Given the description of an element on the screen output the (x, y) to click on. 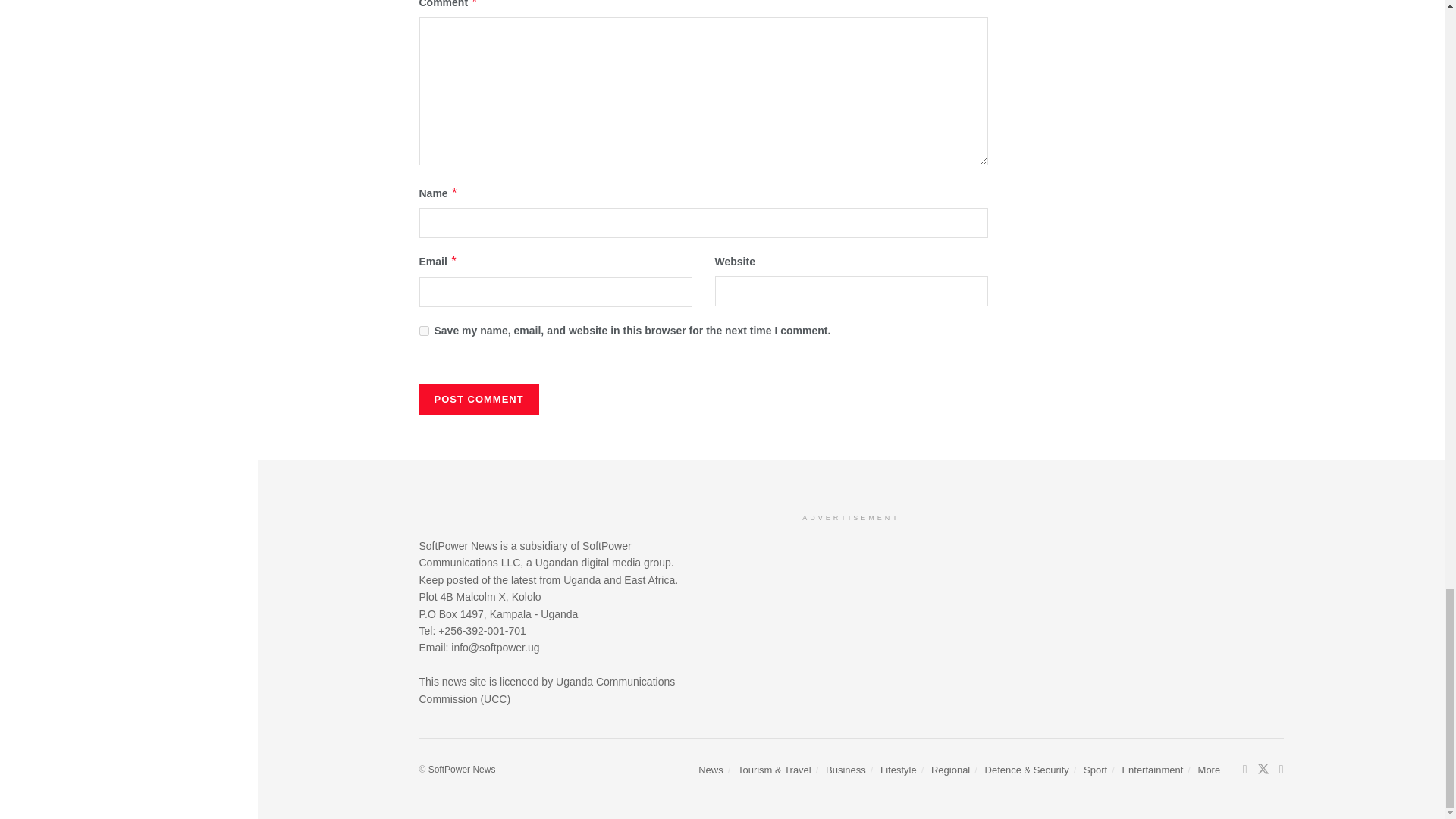
Post Comment (478, 399)
SoftPower News (462, 769)
yes (423, 330)
